Given the description of an element on the screen output the (x, y) to click on. 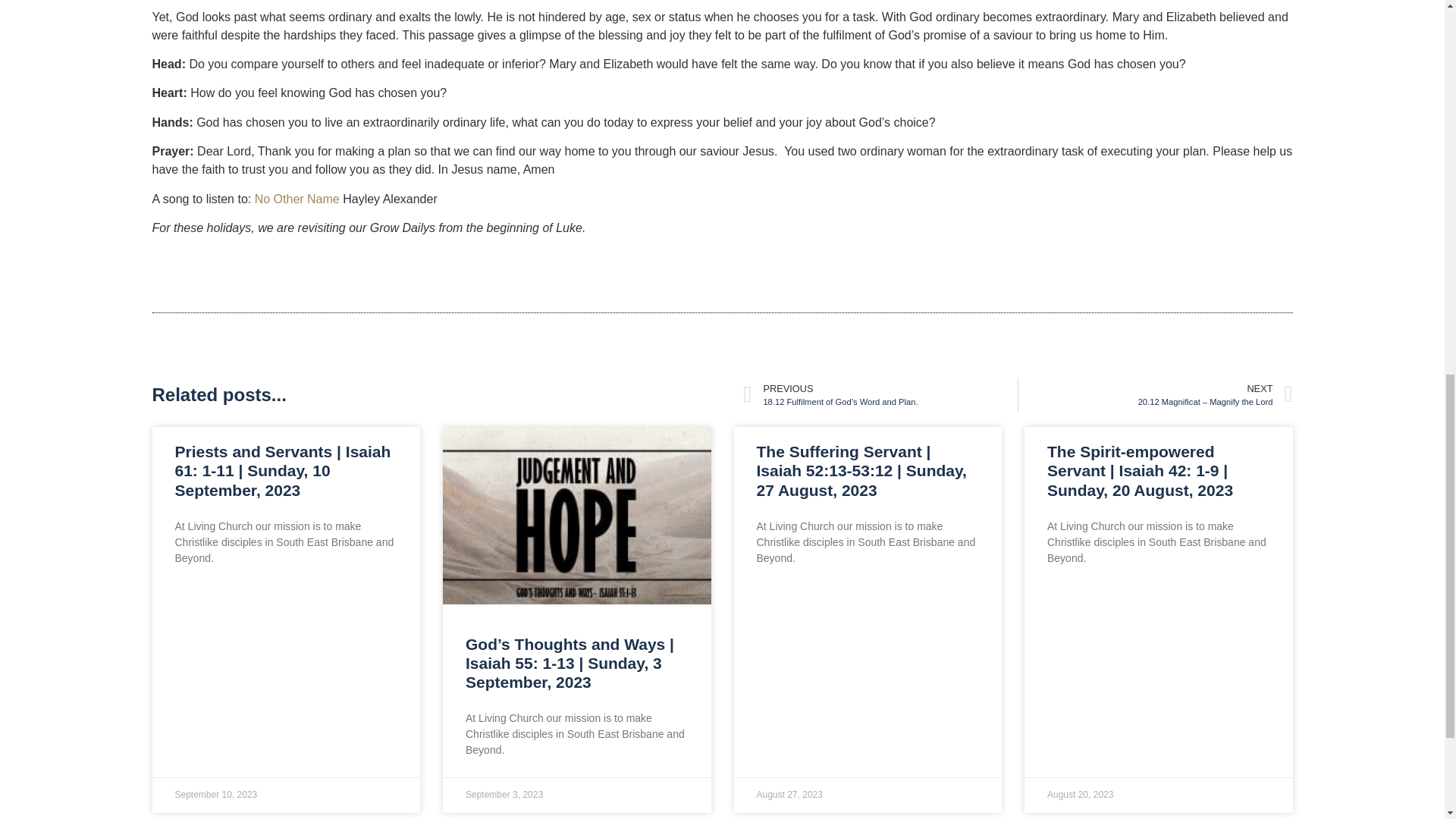
No Other Name (296, 198)
